Given the description of an element on the screen output the (x, y) to click on. 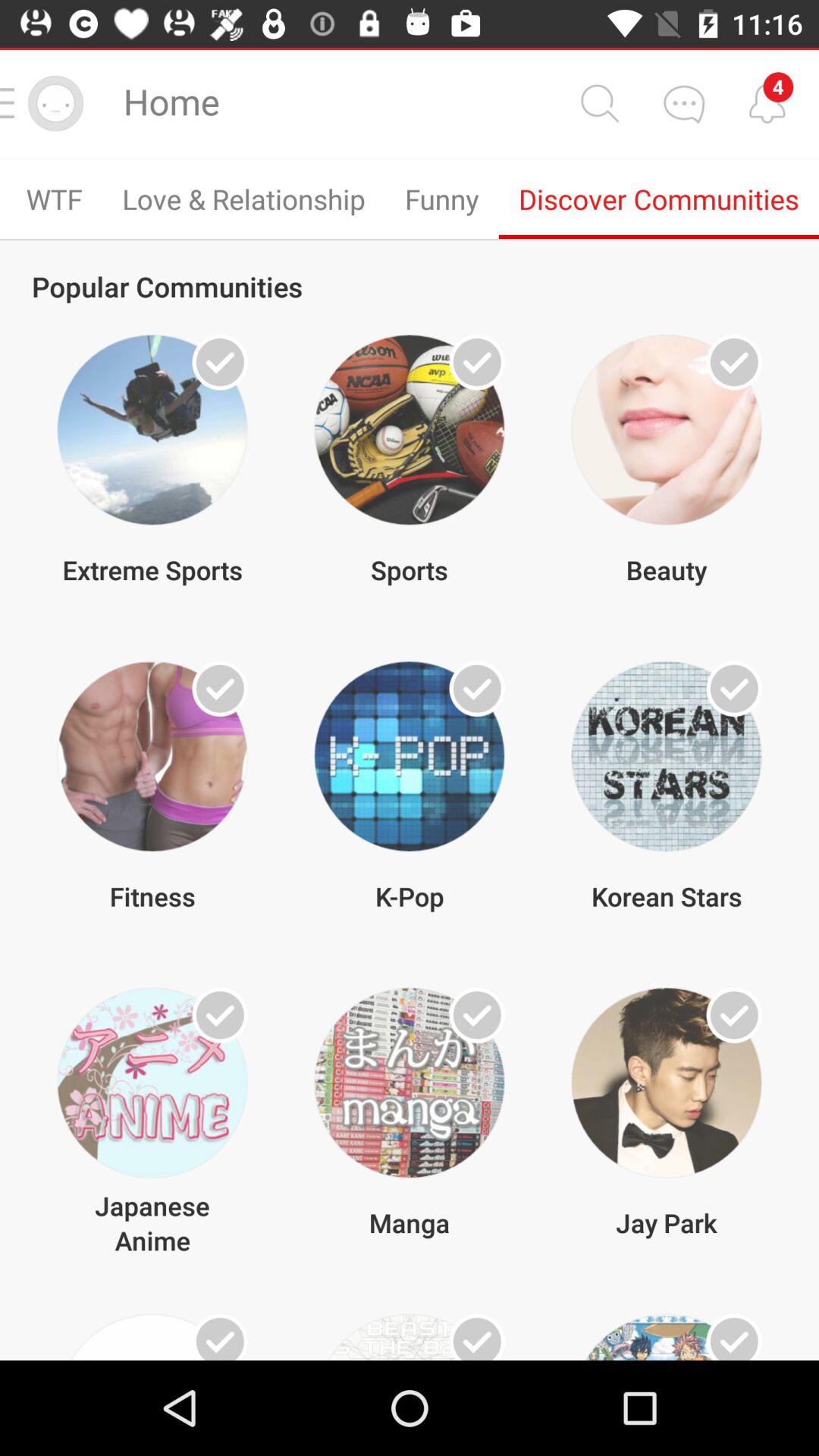
toggle this selection (734, 688)
